Given the description of an element on the screen output the (x, y) to click on. 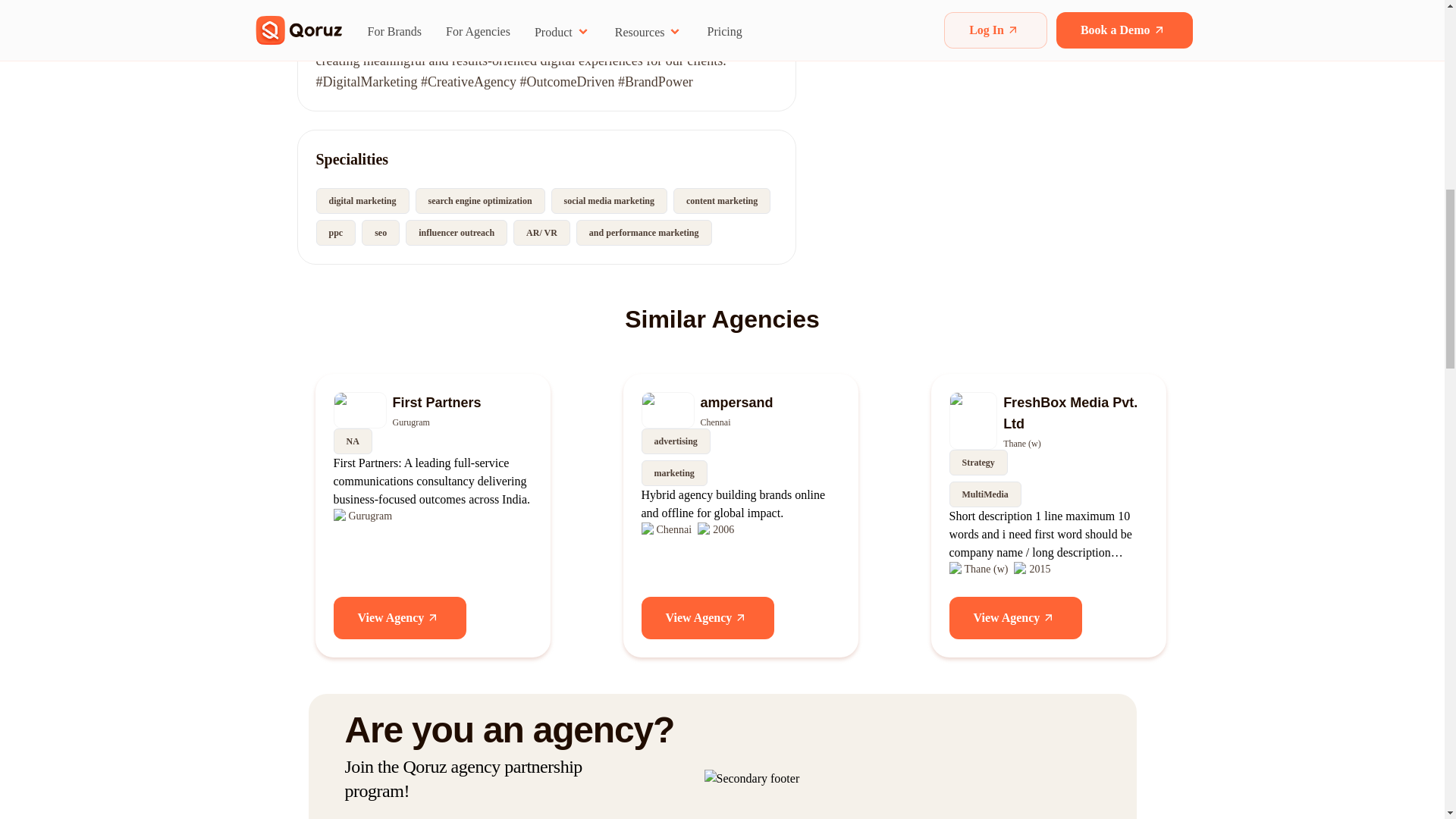
View Agency (400, 618)
View Agency (1016, 618)
View Agency (708, 618)
